Given the description of an element on the screen output the (x, y) to click on. 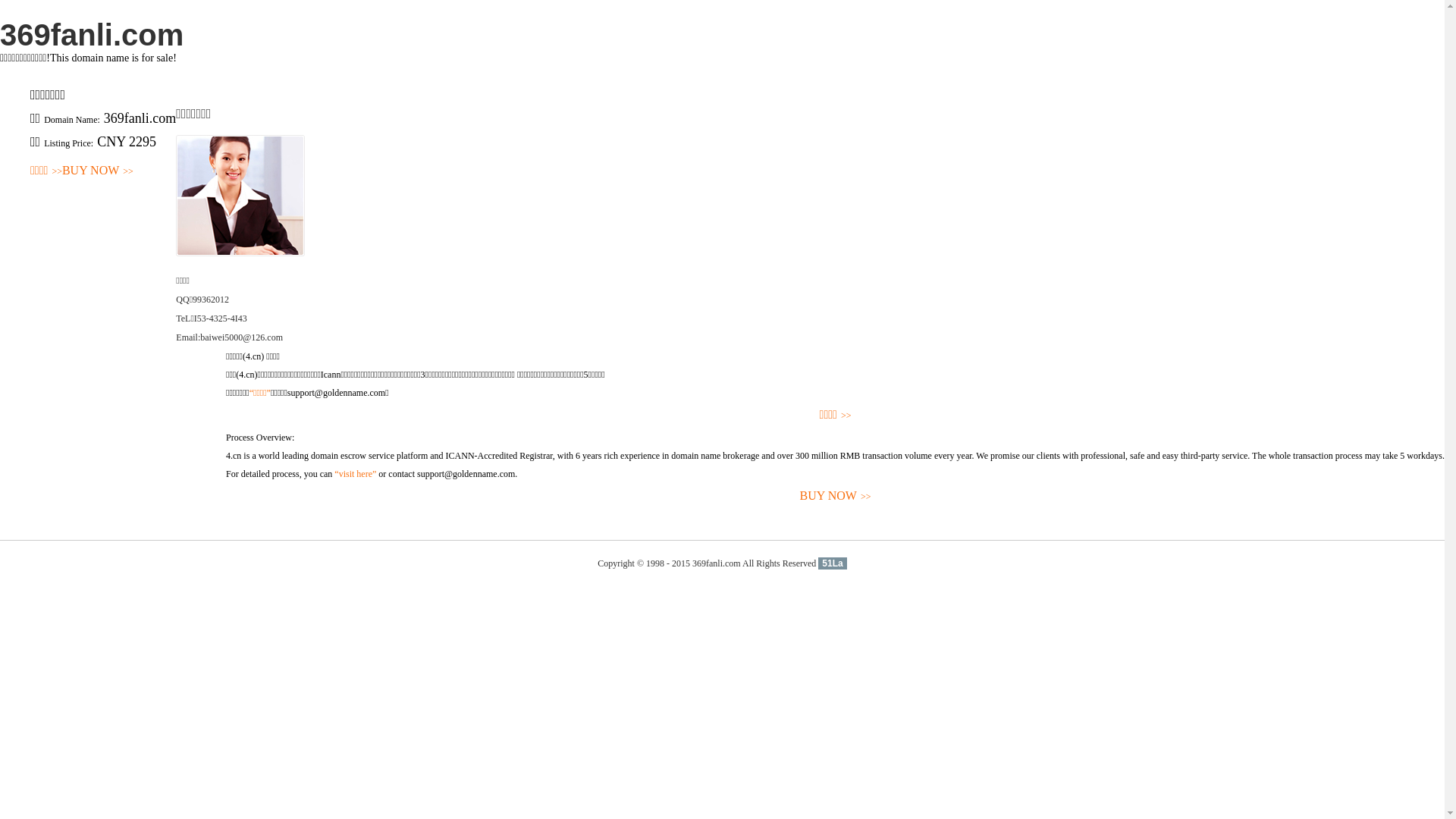
51La Element type: text (832, 563)
BUY NOW>> Element type: text (97, 170)
BUY NOW>> Element type: text (834, 496)
